Given the description of an element on the screen output the (x, y) to click on. 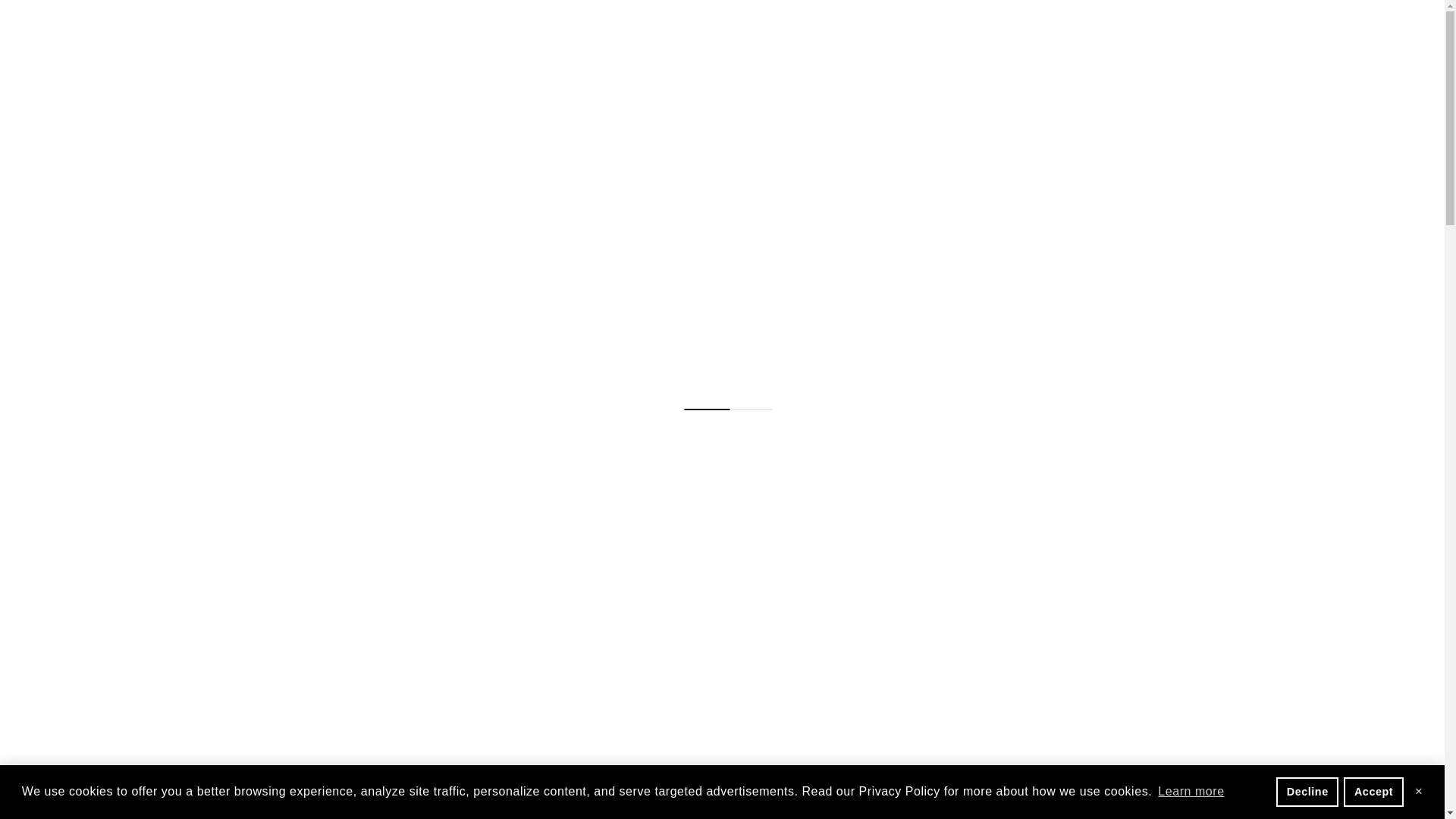
Decline (1307, 791)
Learn more (1191, 791)
SKIP TO CONTENT (61, 13)
Accept (1373, 791)
